Given the description of an element on the screen output the (x, y) to click on. 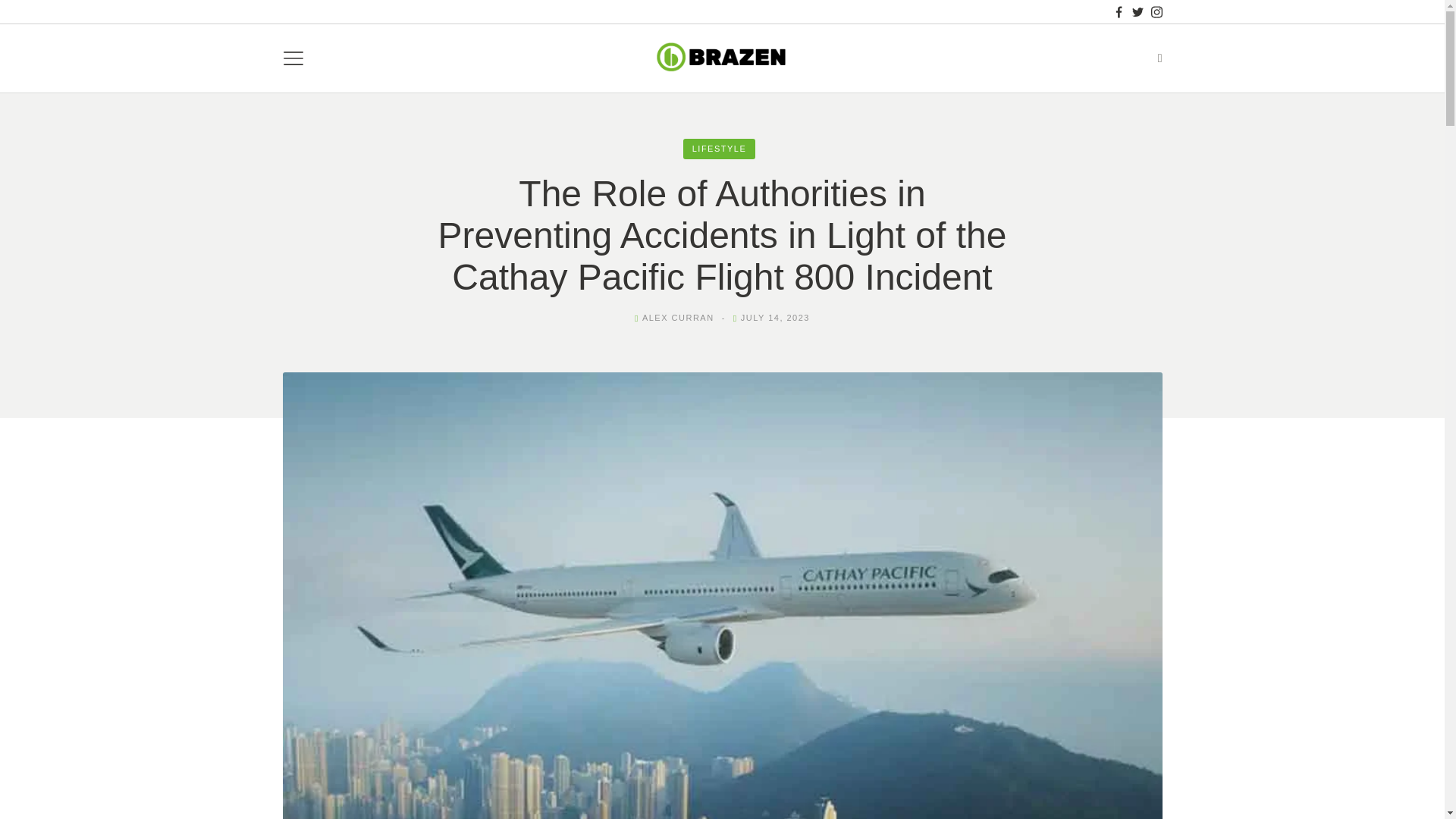
JULY 14, 2023 (775, 317)
ALEX CURRAN (678, 317)
LIFESTYLE (718, 148)
